Given the description of an element on the screen output the (x, y) to click on. 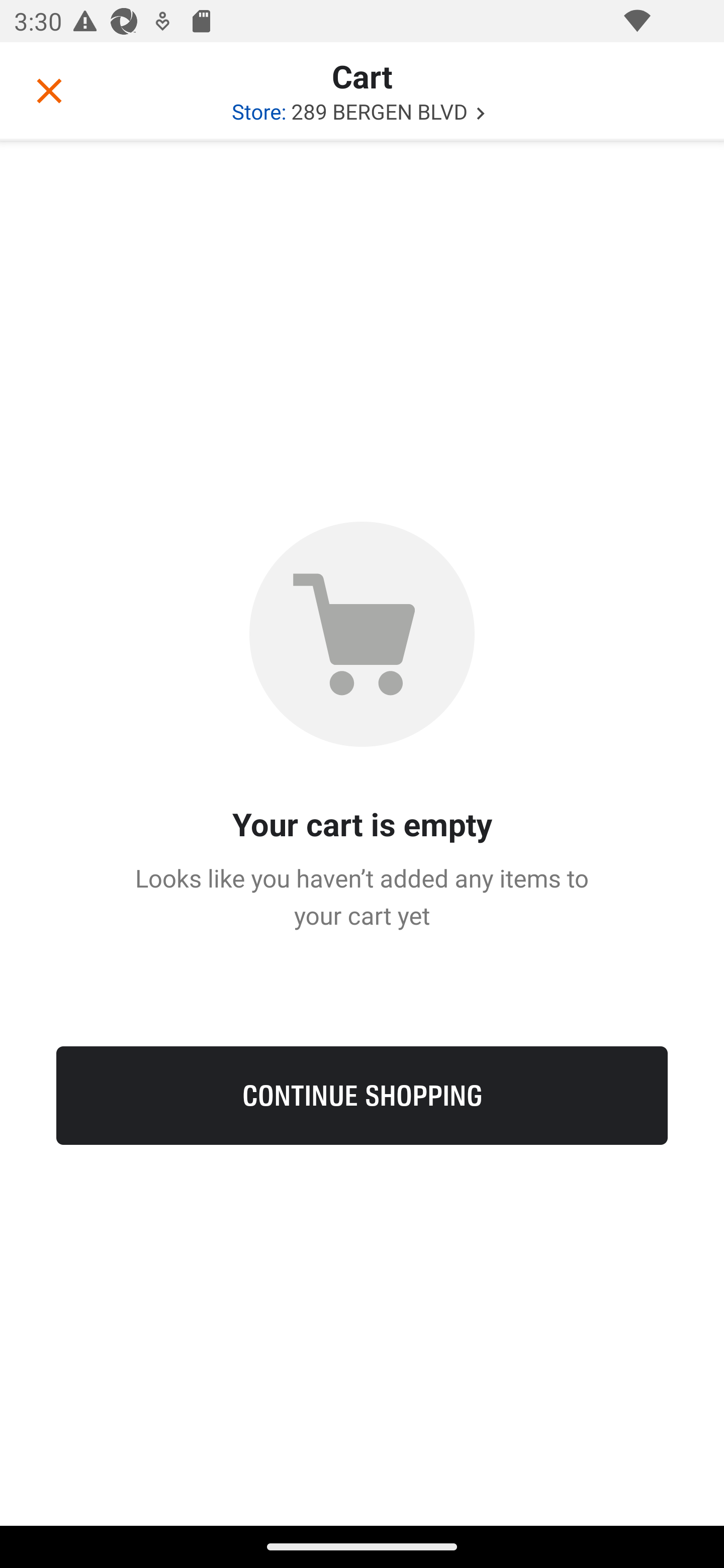
Close cart  (49, 89)
289 BERGEN BLVD Store: 289 BERGEN BLVD  (361, 111)
CONTINUE SHOPPING (361, 1094)
